Given the description of an element on the screen output the (x, y) to click on. 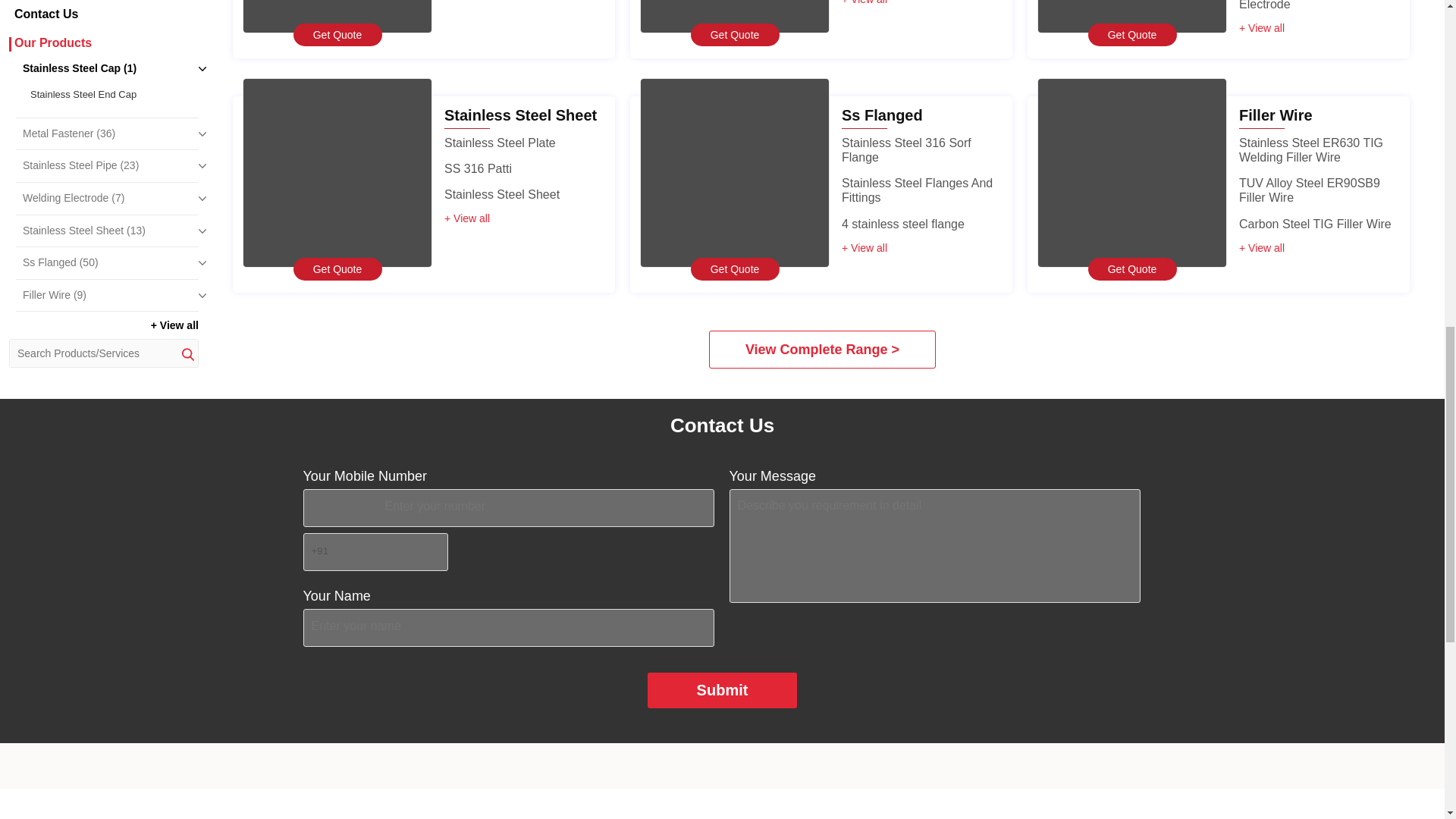
Submit (722, 690)
